Given the description of an element on the screen output the (x, y) to click on. 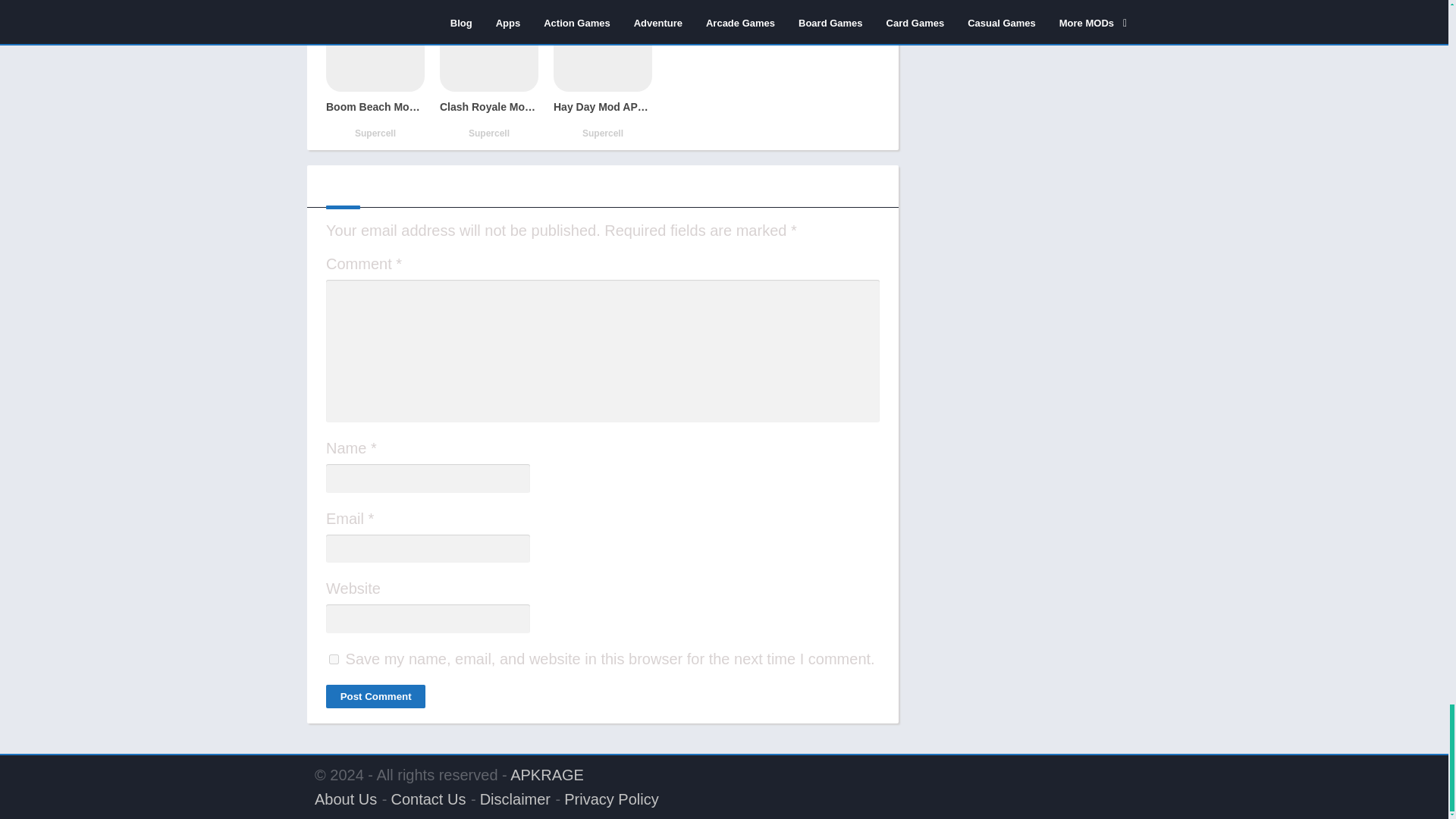
Post Comment (375, 696)
yes (334, 659)
